Given the description of an element on the screen output the (x, y) to click on. 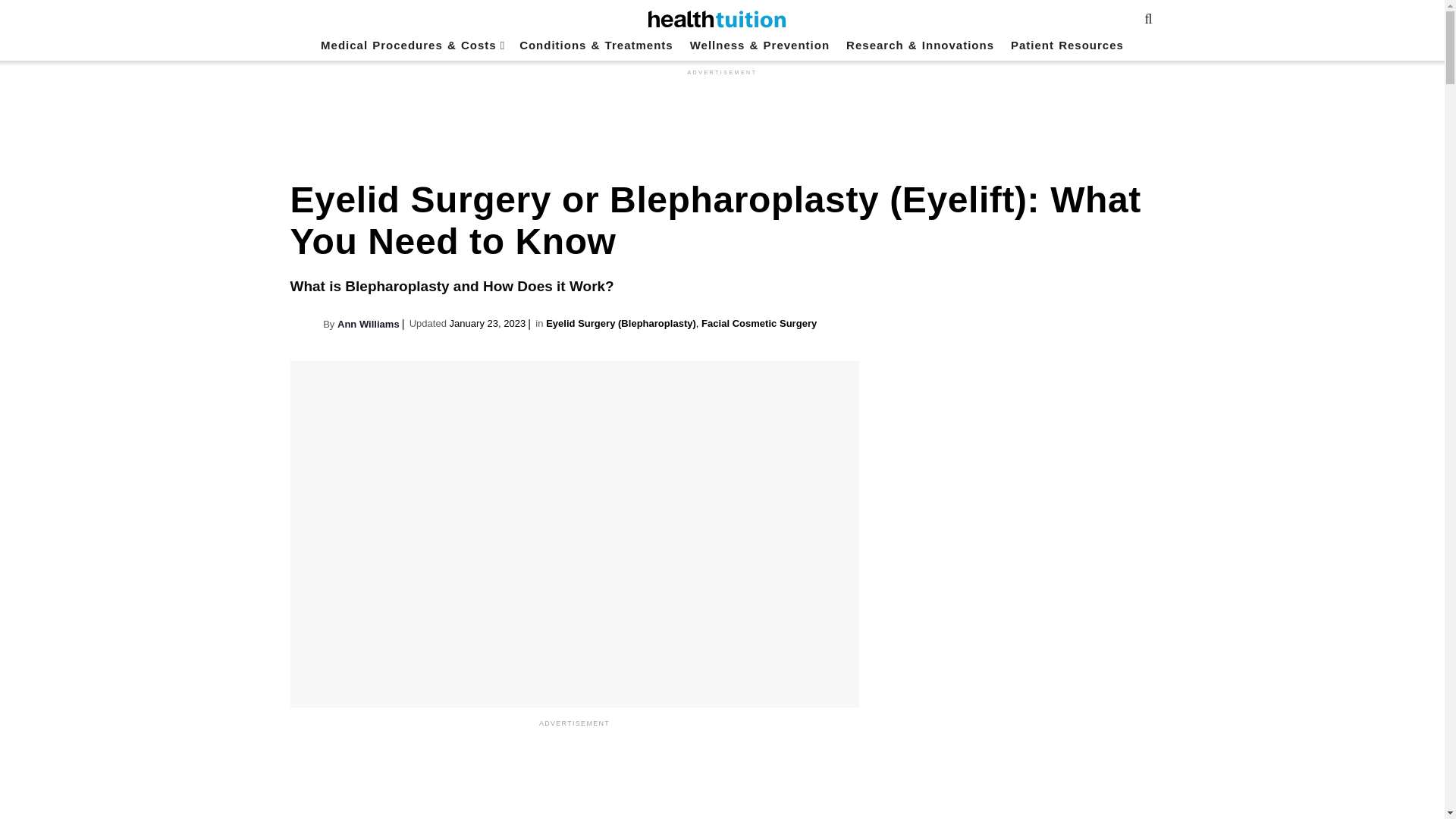
Facial Cosmetic Surgery (758, 323)
Ann Williams (367, 324)
January 23, 2023 (487, 323)
Patient Resources (1067, 45)
